Given the description of an element on the screen output the (x, y) to click on. 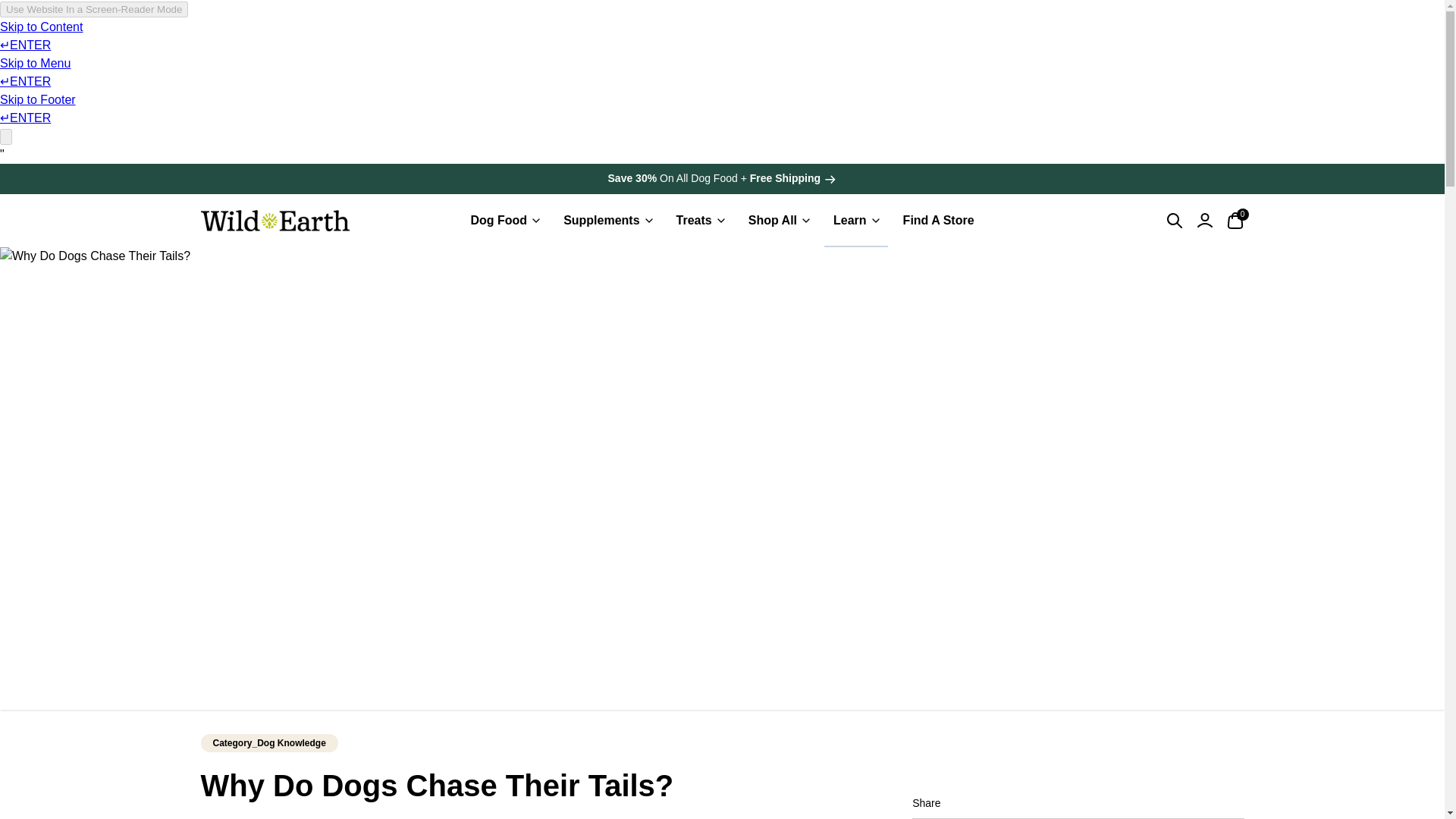
Treats (693, 220)
Shop All (772, 220)
Learn (1234, 220)
Find A Store (849, 220)
Login (937, 220)
Search (721, 220)
Supplements (1204, 220)
Dog Food (1174, 220)
